Given the description of an element on the screen output the (x, y) to click on. 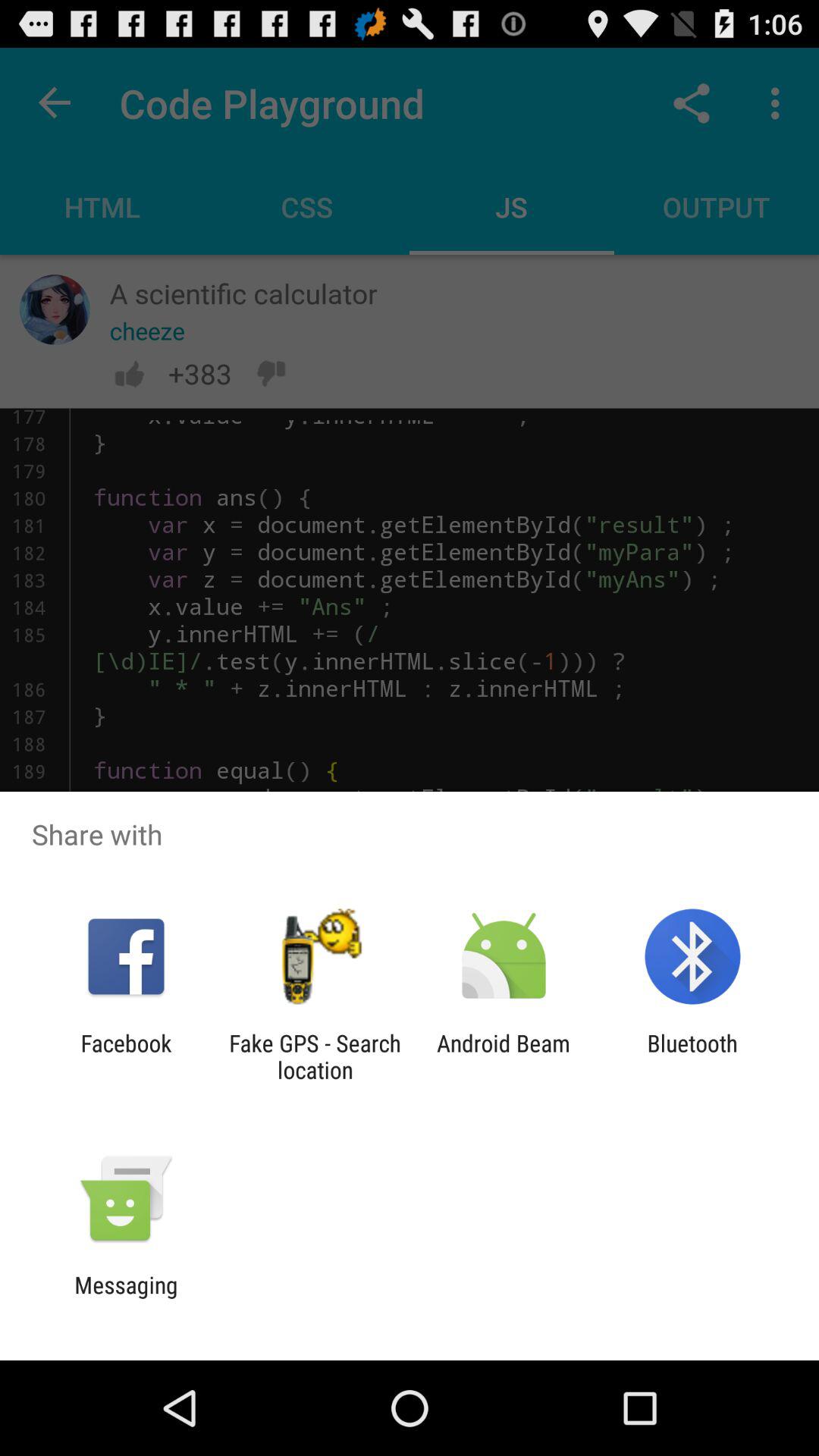
choose app at the bottom right corner (692, 1056)
